Given the description of an element on the screen output the (x, y) to click on. 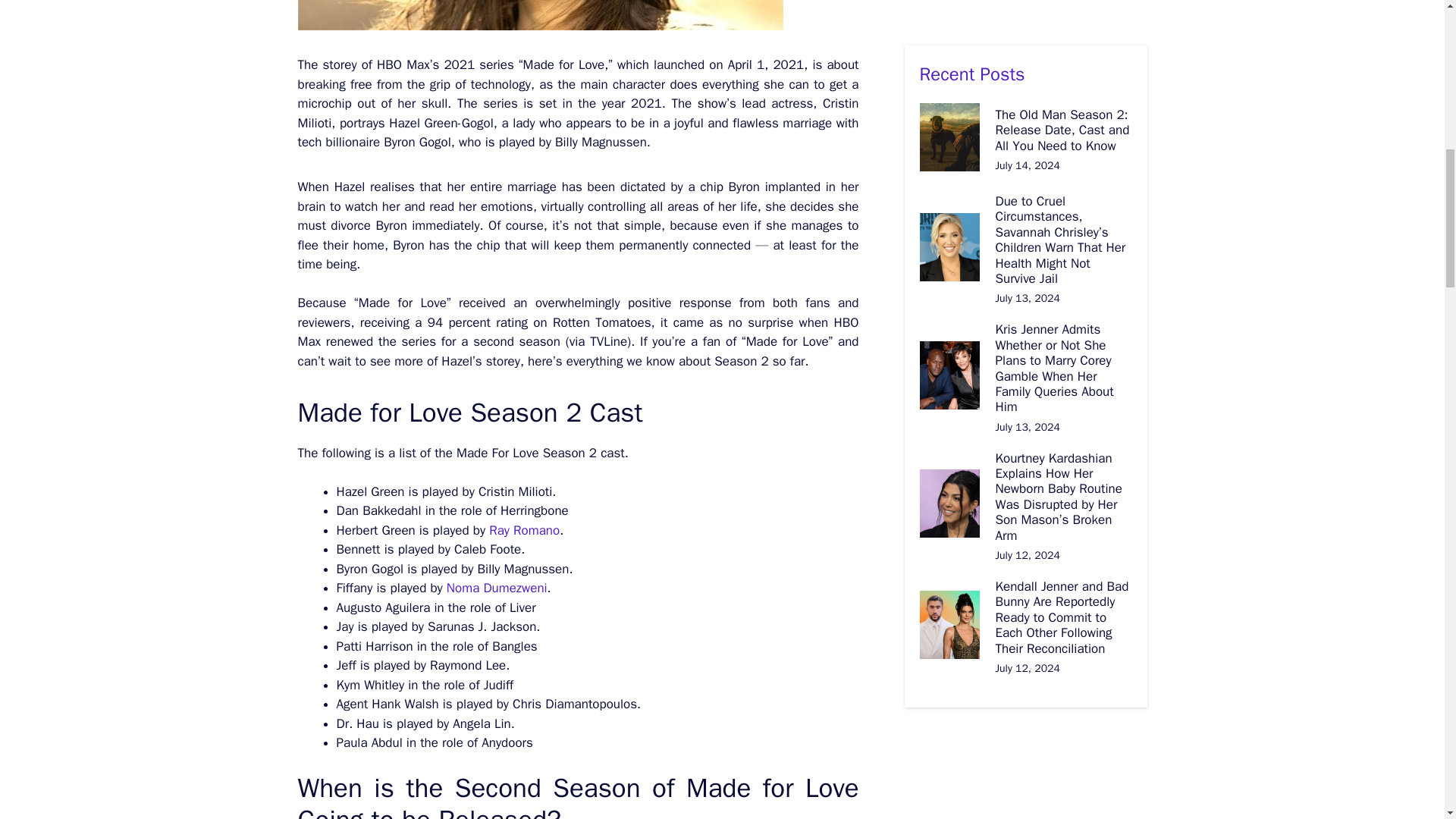
Scroll back to top (1406, 720)
Ray Romano (521, 529)
Noma Dumezweni (496, 587)
